Given the description of an element on the screen output the (x, y) to click on. 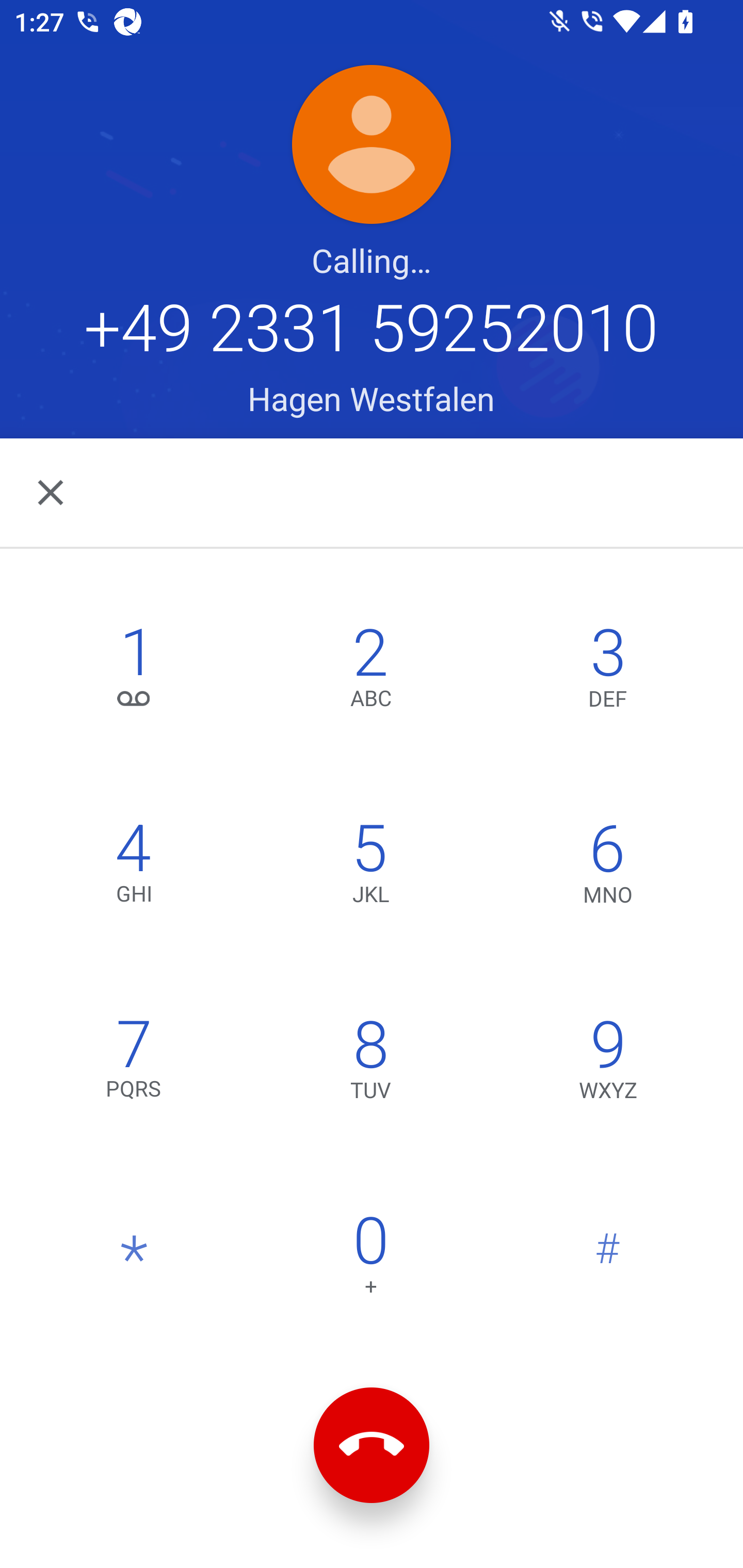
Navigate back (52, 492)
1, 1 (133, 671)
2,ABC 2 ABC (370, 671)
3,DEF 3 DEF (607, 671)
4,GHI 4 GHI (133, 867)
5,JKL 5 JKL (370, 867)
6,MNO 6 MNO (607, 867)
7,PQRS 7 PQRS (133, 1063)
8,TUV 8 TUV (370, 1063)
9,WXYZ 9 WXYZ (607, 1063)
* (133, 1259)
0 0 + (370, 1259)
# (607, 1259)
End call (371, 1445)
